Given the description of an element on the screen output the (x, y) to click on. 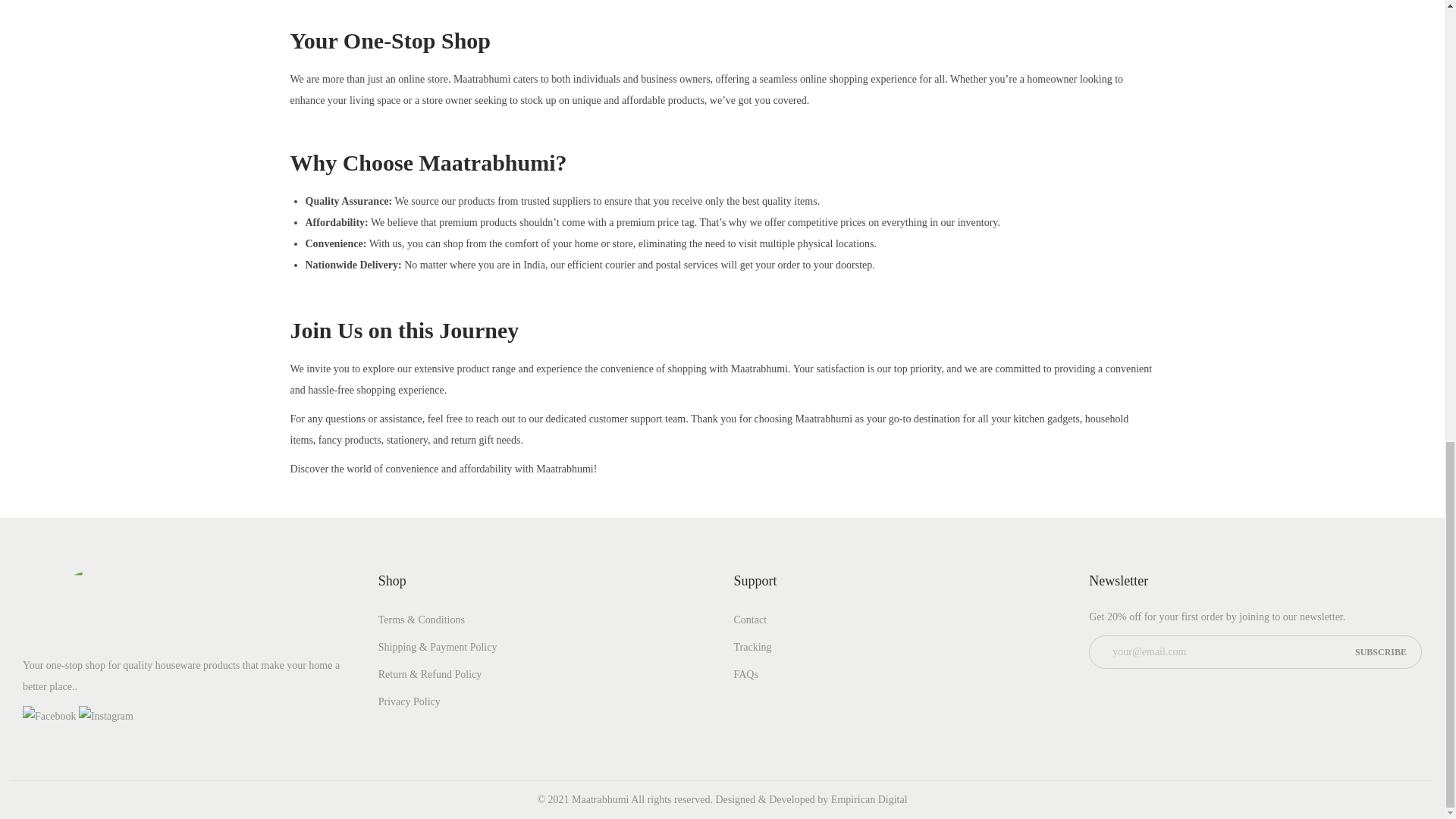
Subscribe (1380, 652)
Contact (750, 619)
Tracking (752, 646)
Privacy Policy (409, 701)
FAQs (745, 674)
Empirican Digital (869, 799)
Subscribe (1380, 652)
